Given the description of an element on the screen output the (x, y) to click on. 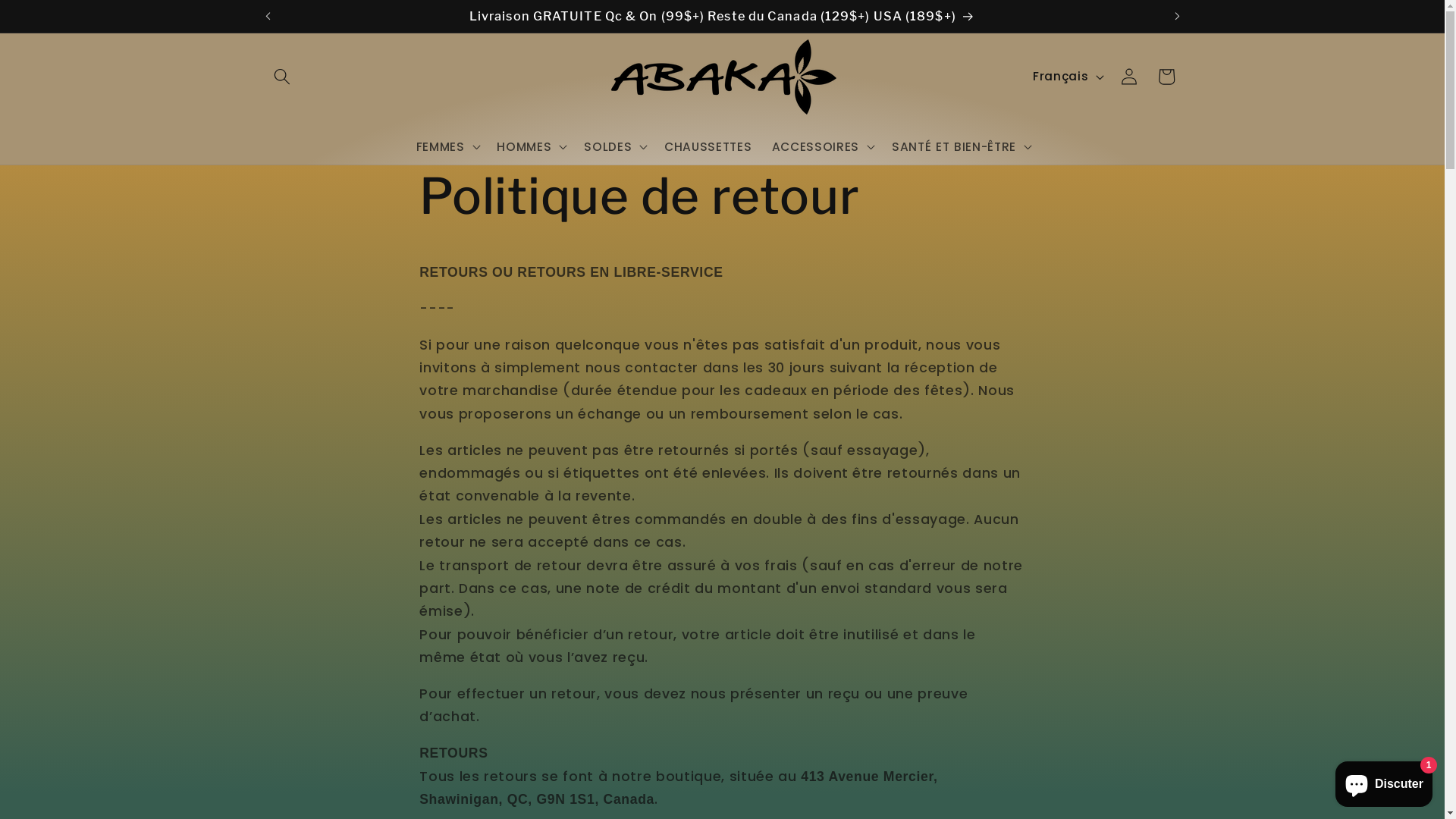
CHAUSSETTES Element type: text (708, 146)
Chat de la boutique en ligne Shopify Element type: hover (1383, 780)
Panier Element type: text (1166, 76)
Connexion Element type: text (1128, 76)
